Given the description of an element on the screen output the (x, y) to click on. 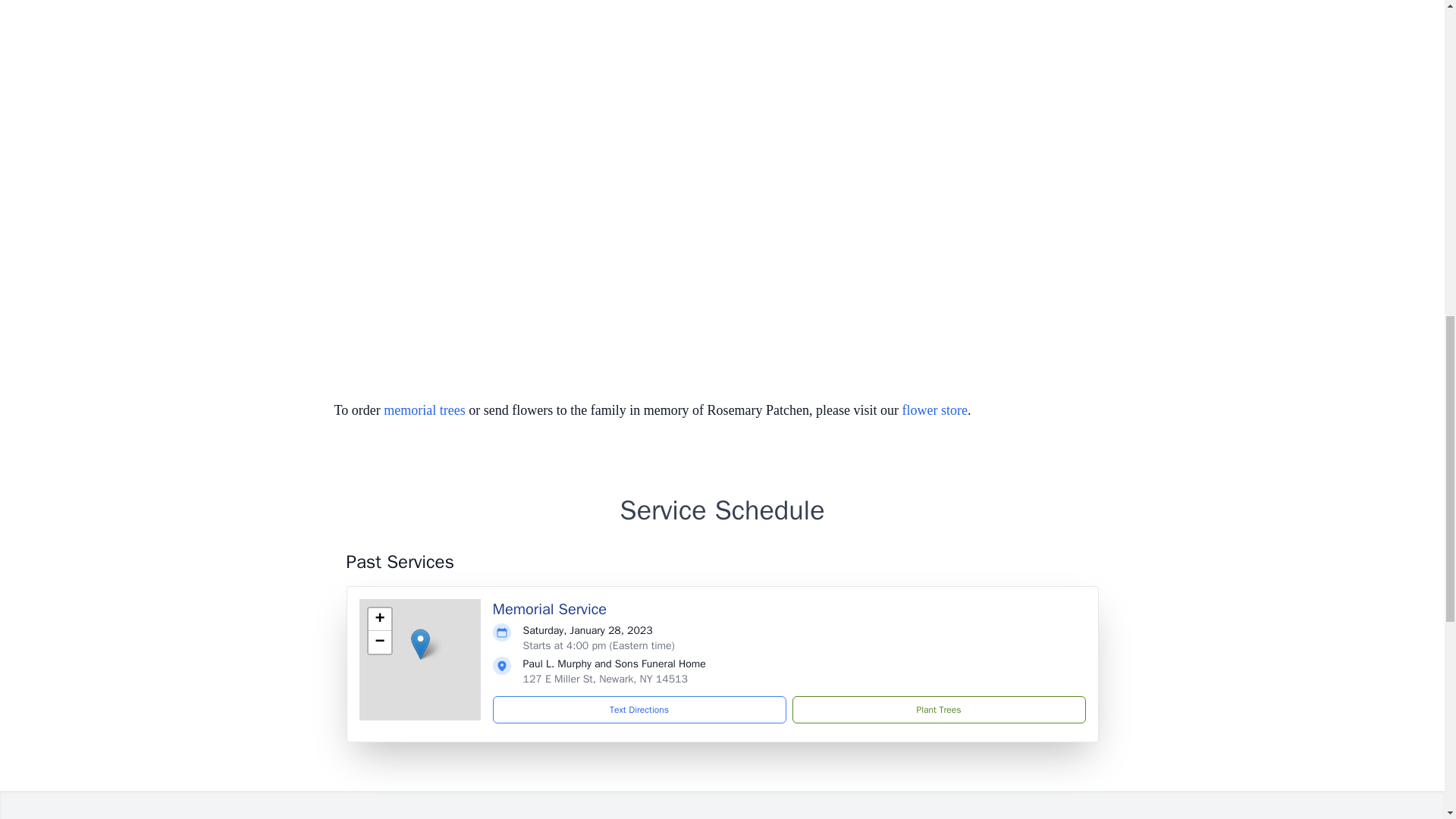
Plant Trees (938, 709)
Text Directions (639, 709)
flower store (935, 409)
Zoom in (379, 619)
127 E Miller St, Newark, NY 14513 (604, 678)
memorial trees (424, 409)
Zoom out (379, 641)
